Given the description of an element on the screen output the (x, y) to click on. 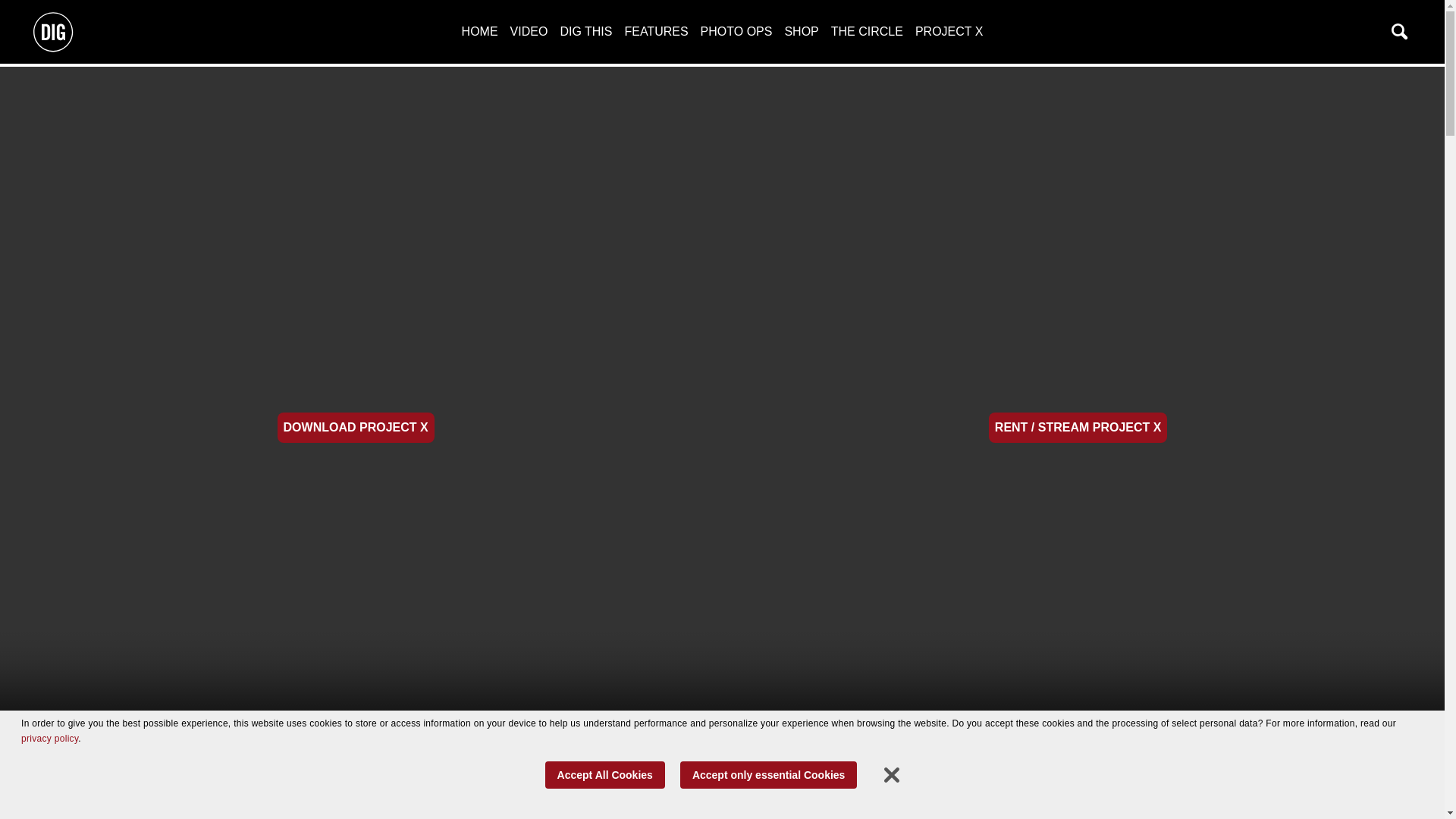
PROJECT X (949, 31)
DIG THIS (585, 31)
PHOTO OPS (736, 31)
SHOP (800, 31)
THE CIRCLE (866, 31)
DOWNLOAD PROJECT X (355, 427)
VIDEO (528, 31)
HOME (479, 31)
FEATURES (655, 31)
